Given the description of an element on the screen output the (x, y) to click on. 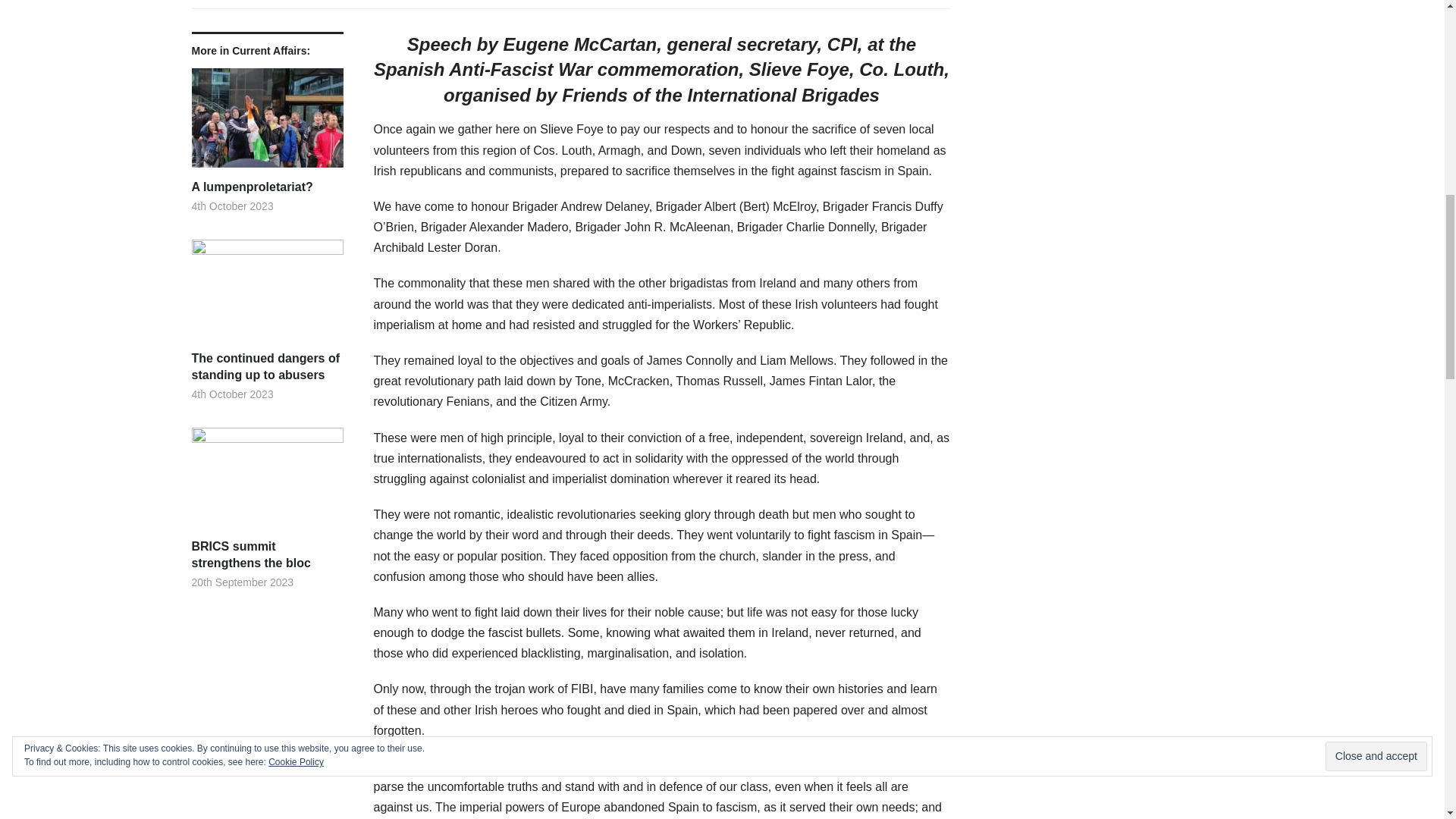
Permalink to BRICS summit strengthens the bloc (266, 555)
Permalink to BRICS summit strengthens the bloc (266, 482)
Permalink to The continued dangers of standing up to abusers (266, 294)
Permalink to A lumpenproletariat? (266, 123)
Permalink to A lumpenproletariat? (266, 187)
Permalink to The continued dangers of standing up to abusers (266, 367)
